Given the description of an element on the screen output the (x, y) to click on. 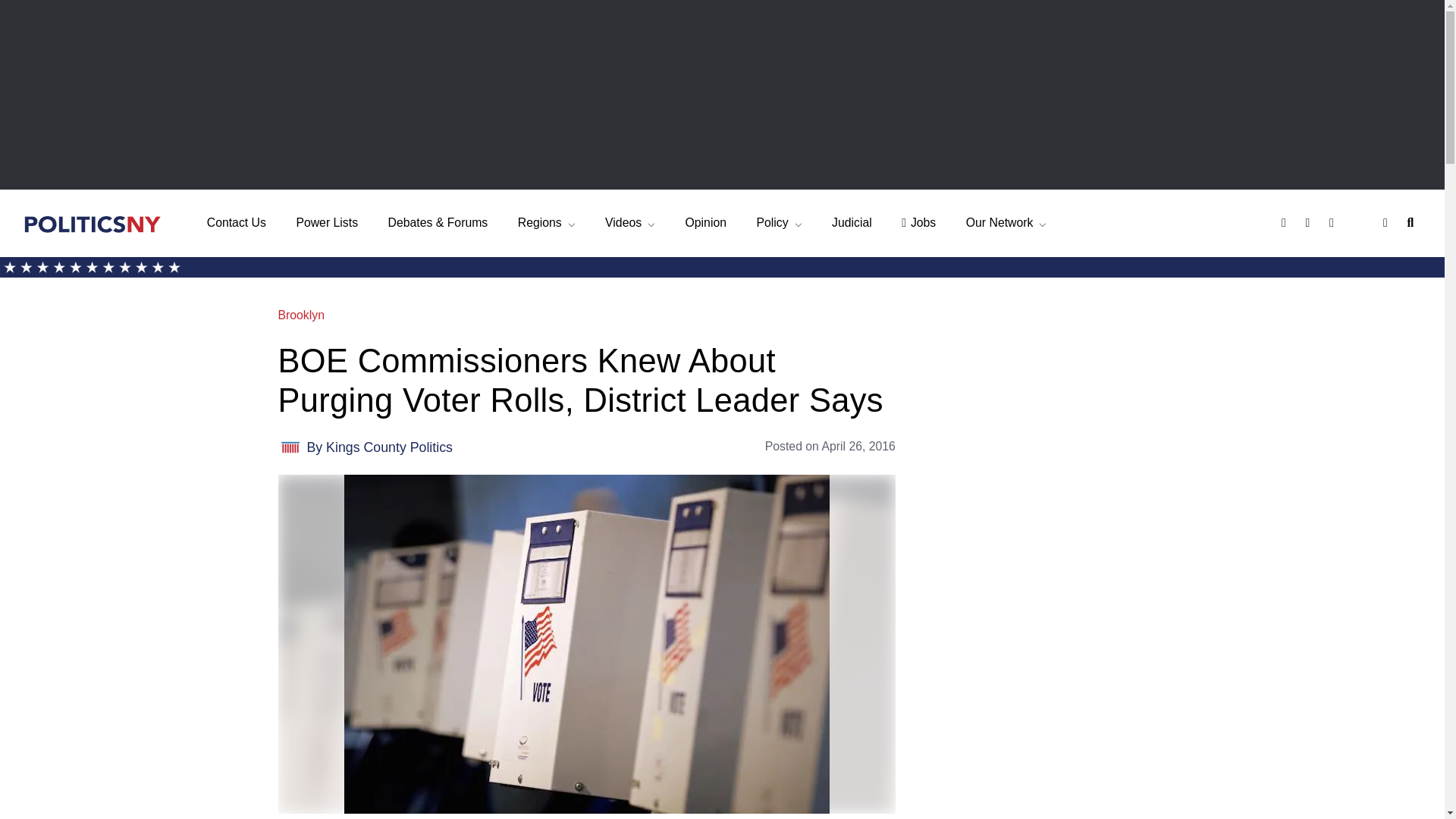
Power Lists (326, 222)
Our Network (1006, 222)
Policy (778, 222)
3rd party ad content (1052, 400)
Judicial (851, 222)
Posts by Kings County Politics (389, 447)
Contact Us (236, 222)
Jobs (918, 222)
3rd party ad content (1052, 627)
